Given the description of an element on the screen output the (x, y) to click on. 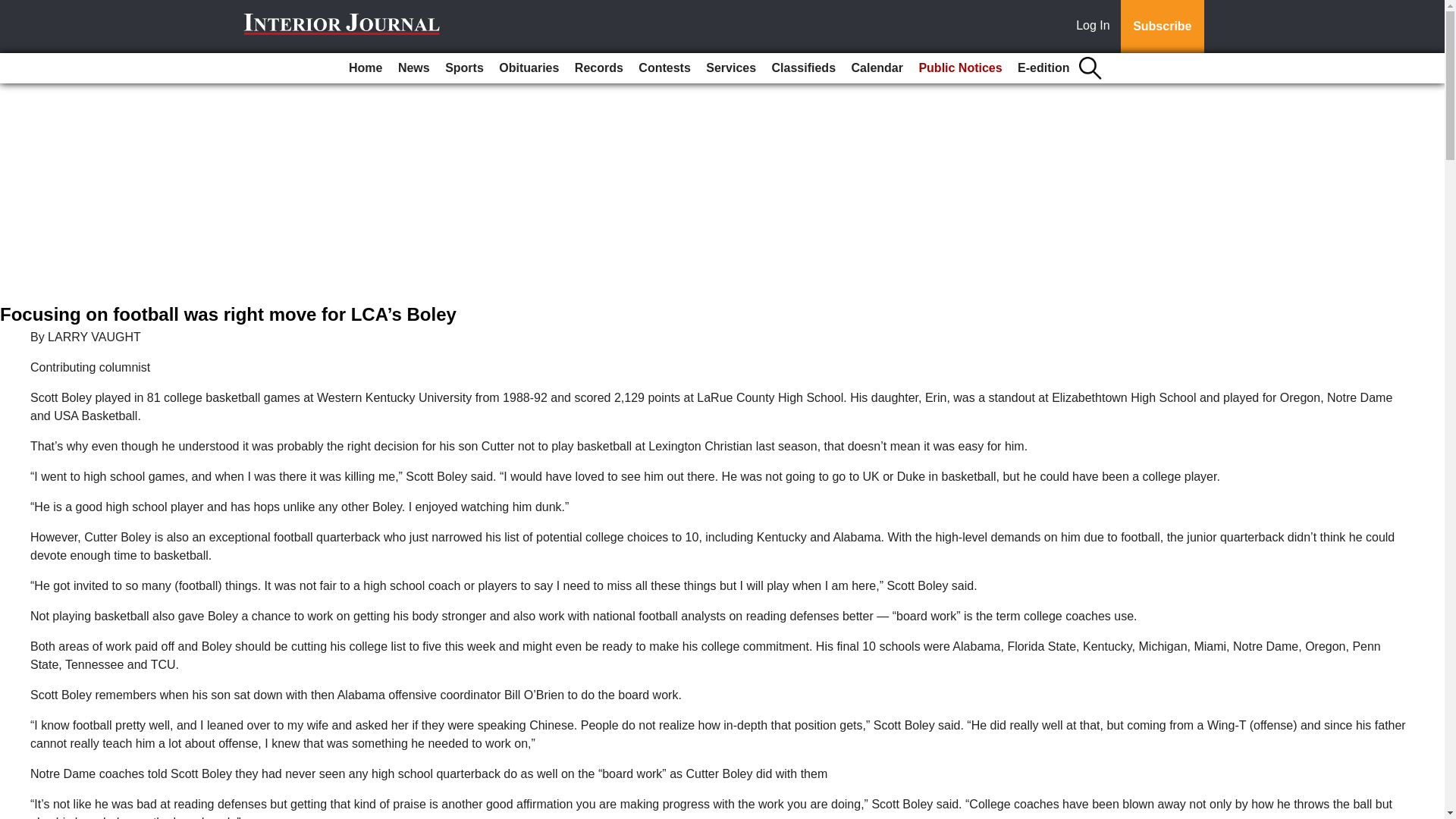
Home (365, 68)
Records (598, 68)
Public Notices (959, 68)
Classifieds (803, 68)
Log In (1095, 26)
News (413, 68)
Subscribe (1162, 26)
Services (730, 68)
Go (13, 9)
Contests (663, 68)
